Given the description of an element on the screen output the (x, y) to click on. 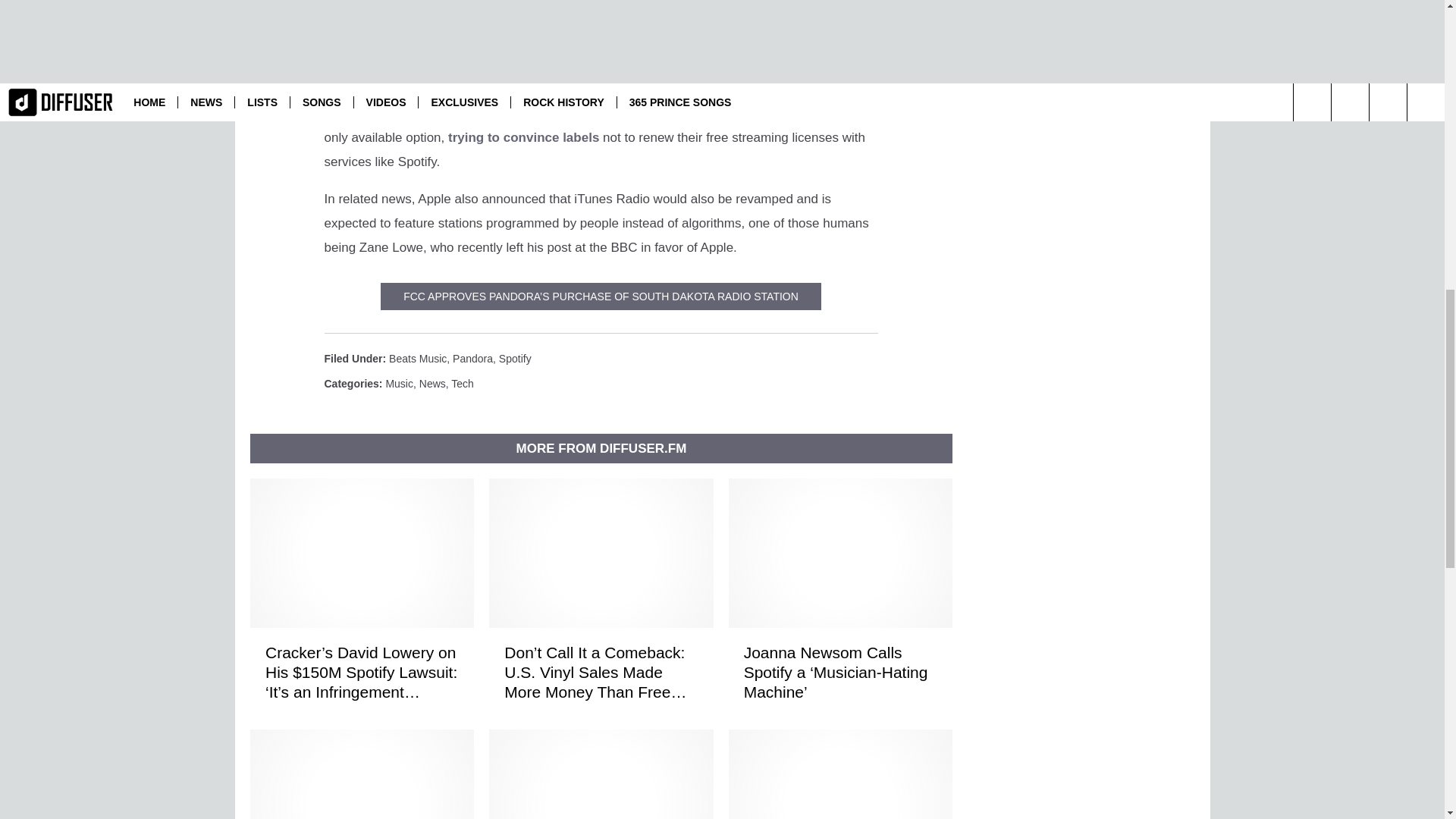
News (432, 383)
trying to convince labels (523, 137)
Music (399, 383)
Spotify (515, 358)
Taylor Swift (609, 64)
Beats Music (417, 358)
Tech (462, 383)
Pandora (472, 358)
